Given the description of an element on the screen output the (x, y) to click on. 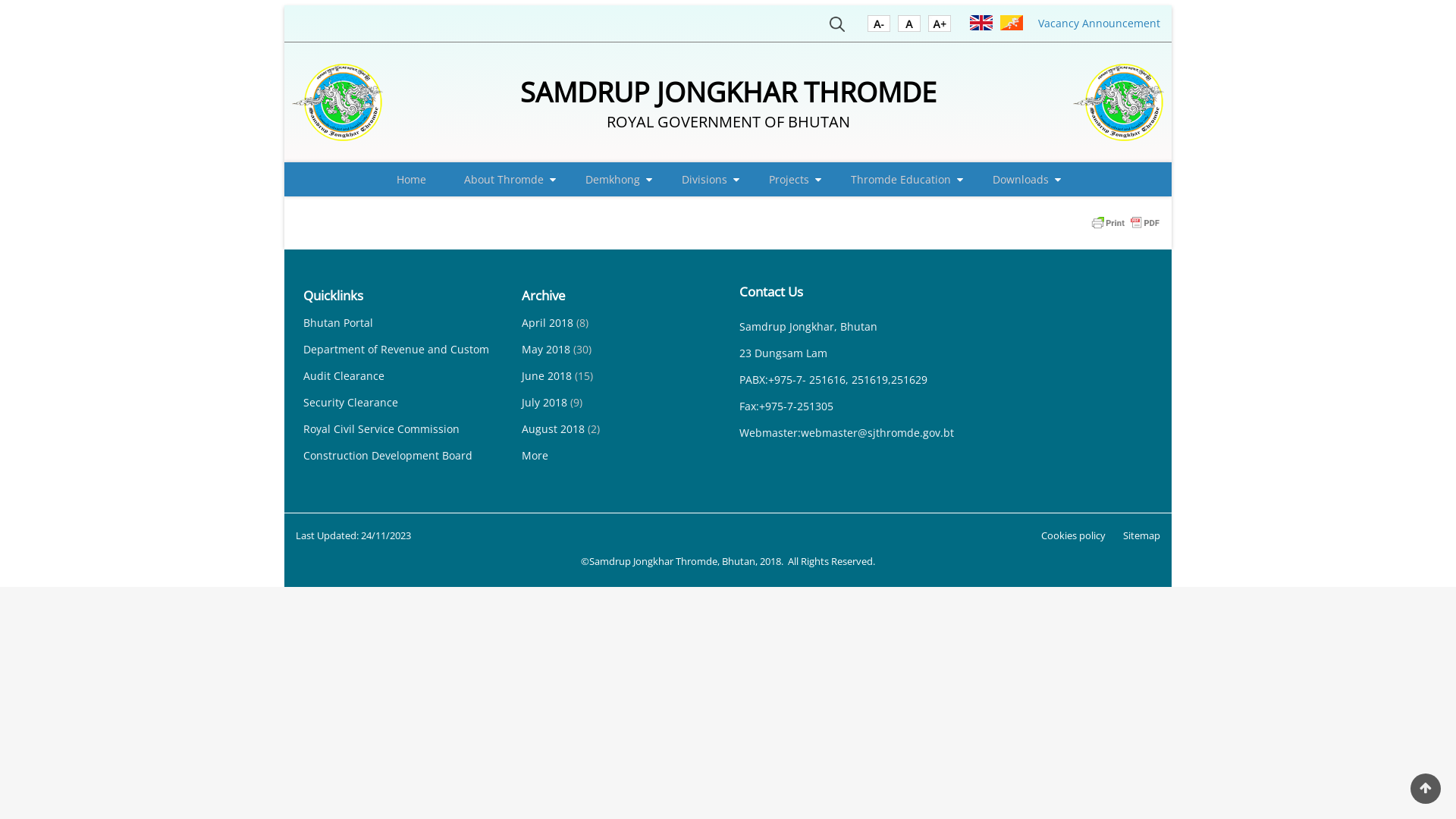
Construction Development Board Element type: text (387, 455)
Vacancy Announcement Element type: text (1099, 22)
Search Element type: text (836, 26)
More Element type: text (534, 455)
Bhutan Portal Element type: text (338, 322)
Thromde Education Element type: text (902, 179)
Demkhong Element type: text (614, 179)
Audit Clearance Element type: text (343, 375)
Sitemap Element type: text (1141, 535)
Downloads Element type: text (1021, 179)
Skip to main content Element type: text (0, 0)
SAMDRUP JONGKHAR THROMDE Element type: text (728, 91)
Home Element type: text (410, 179)
Printer Friendly, PDF & Email Element type: hover (1125, 221)
A Element type: text (939, 26)
April 2018 Element type: text (547, 322)
Back to Top Element type: hover (1425, 788)
Home Element type: hover (1118, 102)
A Element type: text (908, 26)
Cookies policy Element type: text (1073, 535)
May 2018 Element type: text (545, 349)
July 2018 Element type: text (544, 402)
June 2018 Element type: text (546, 375)
Divisions Element type: text (705, 179)
Department of Revenue and Custom Element type: text (396, 349)
Royal Civil Service Commission Element type: text (381, 428)
Home Element type: hover (336, 102)
Projects Element type: text (790, 179)
Security Clearance Element type: text (350, 402)
August 2018 Element type: text (552, 428)
A Element type: text (878, 26)
About Thromde Element type: text (505, 179)
